Given the description of an element on the screen output the (x, y) to click on. 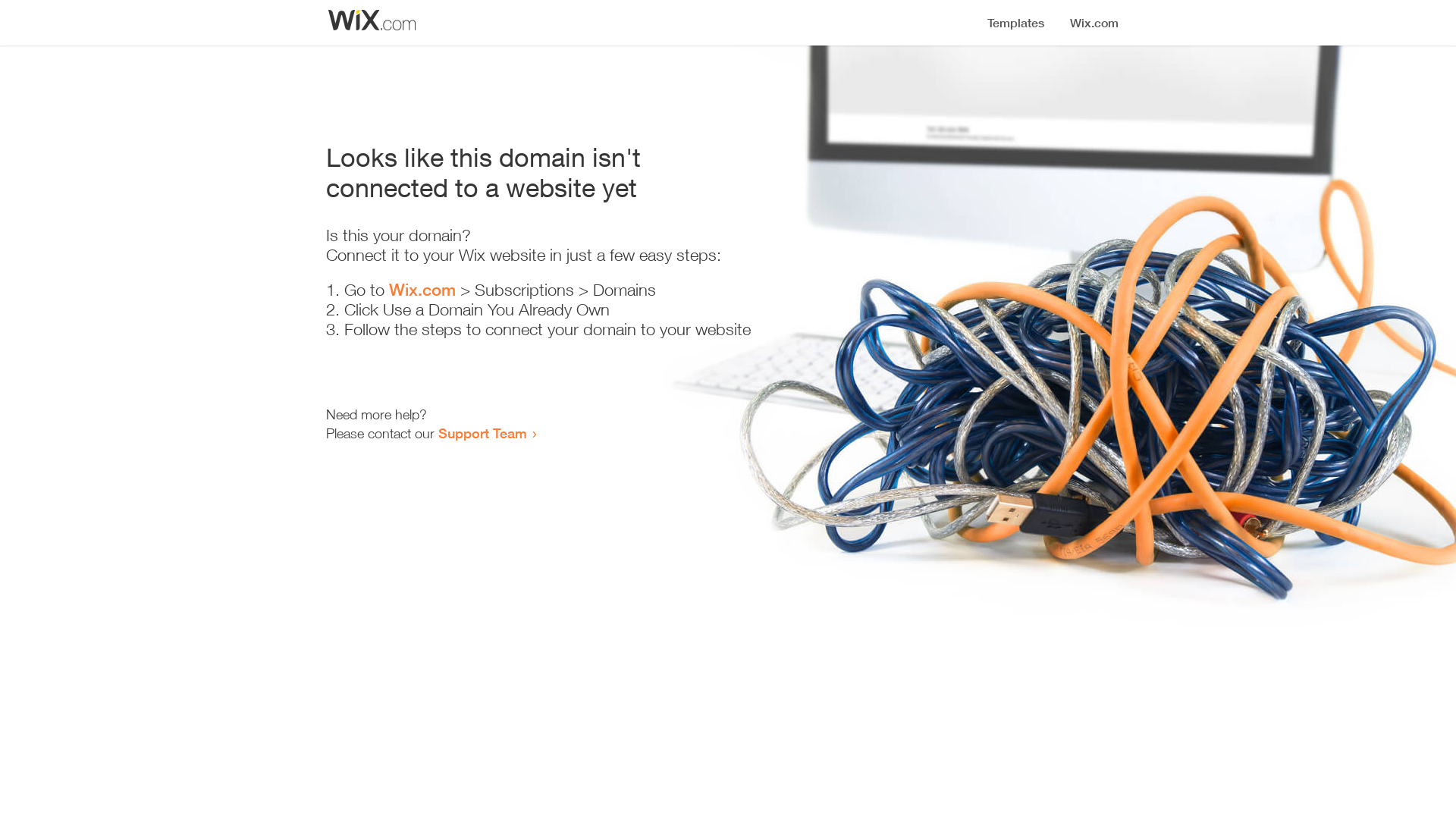
Support Team Element type: text (482, 432)
Wix.com Element type: text (422, 289)
